Given the description of an element on the screen output the (x, y) to click on. 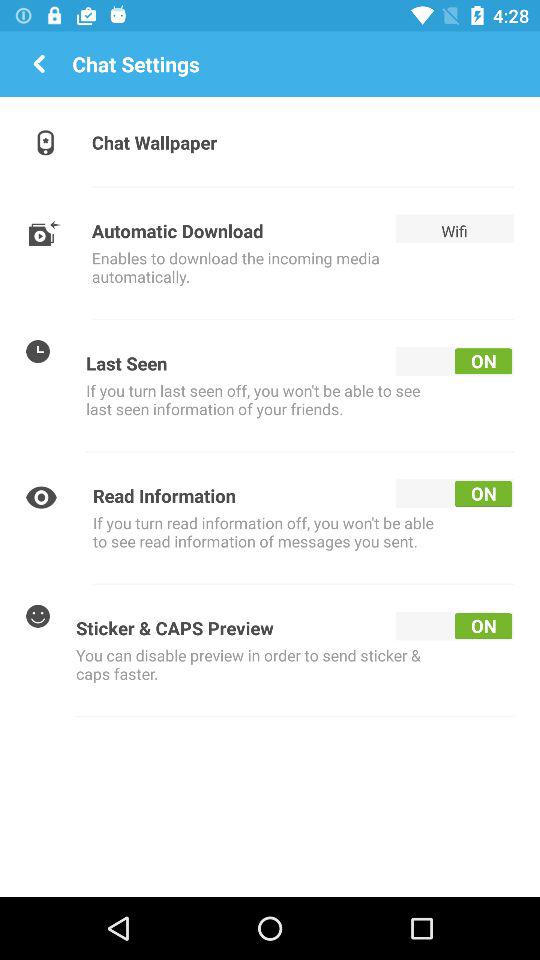
go to the last icon (37, 615)
go to the third icon (37, 350)
click on the second icon (45, 231)
